Given the description of an element on the screen output the (x, y) to click on. 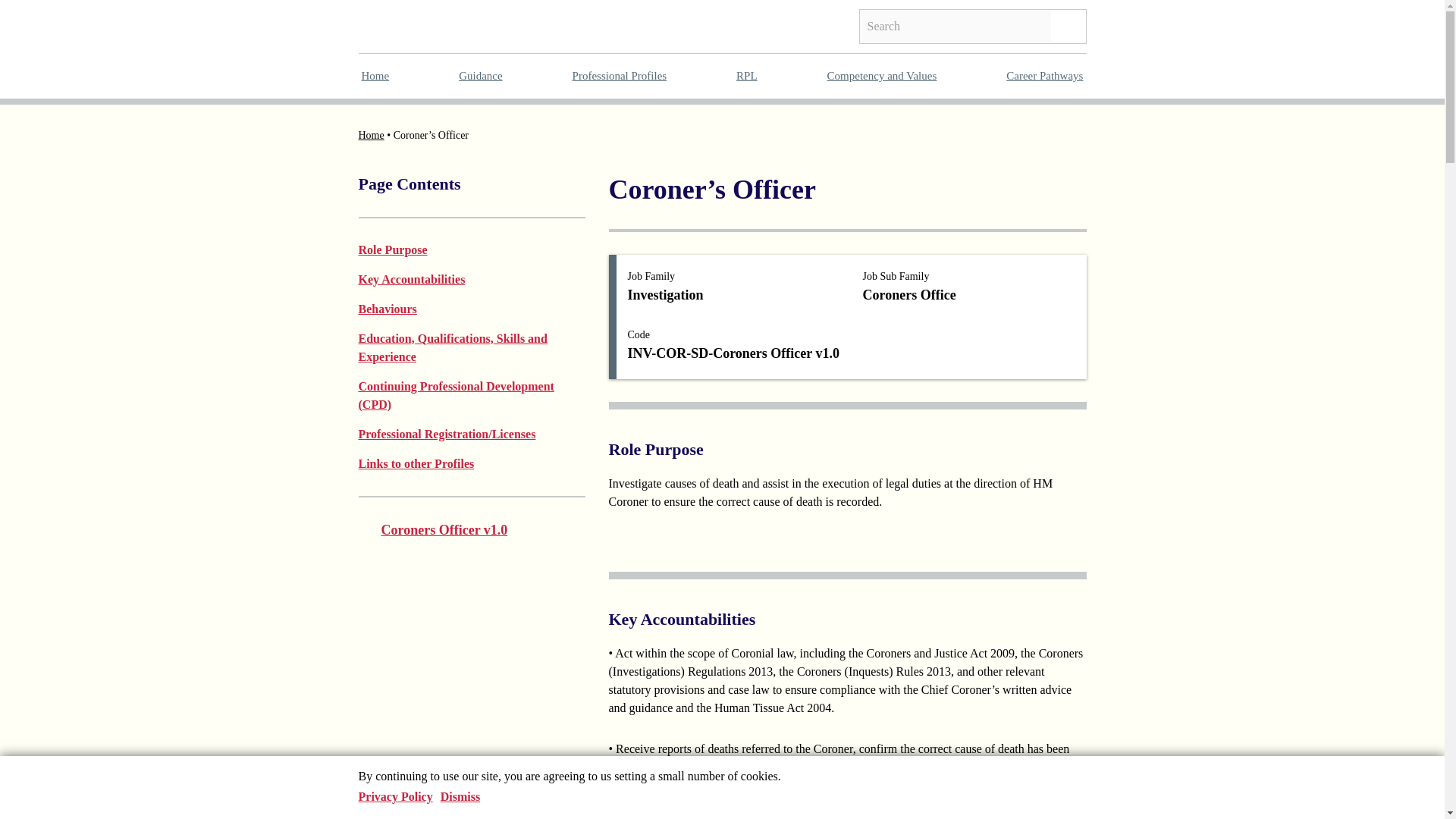
Coroners Officer v1.0 (432, 530)
Role Purpose (392, 248)
Home (374, 76)
Competency and Values (882, 76)
Professional Profiles (619, 76)
Education, Qualifications, Skills and Experience (452, 347)
Search (1068, 26)
Go to homepage (409, 24)
Guidance (480, 76)
Behaviours (387, 308)
Links to other Profiles (416, 462)
Career Pathways (1044, 76)
Home (371, 134)
RPL (746, 76)
Key Accountabilities (411, 278)
